Given the description of an element on the screen output the (x, y) to click on. 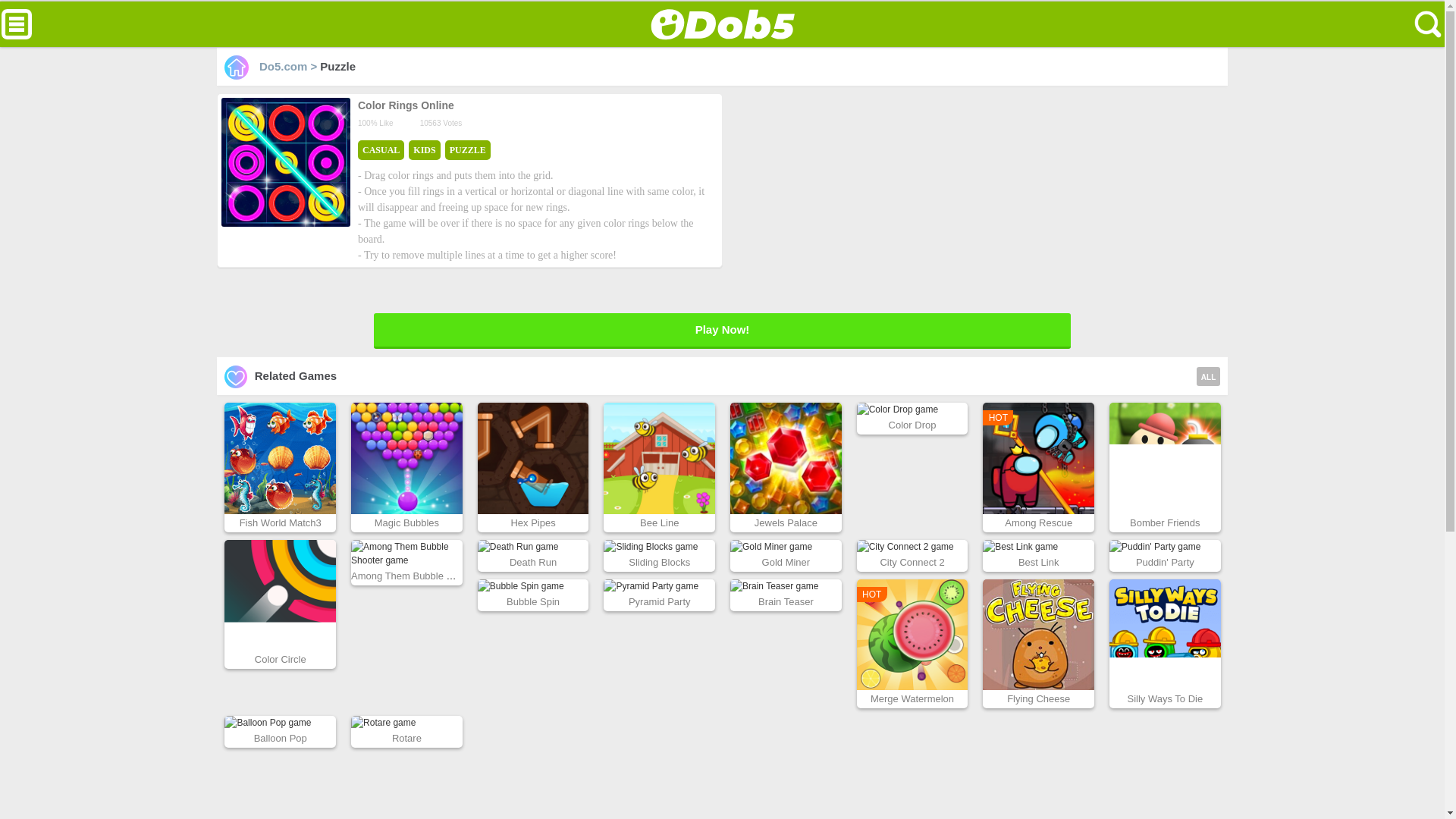
PUZZLE (467, 150)
Jewels Palace (785, 522)
Hex Pipes (532, 522)
ALL (1208, 375)
Among Them Bubble Shooter (415, 575)
Play Now! (722, 330)
Gold Miner (785, 562)
Magic Bubbles (406, 522)
Bee Line (659, 522)
Sliding Blocks (659, 562)
